Given the description of an element on the screen output the (x, y) to click on. 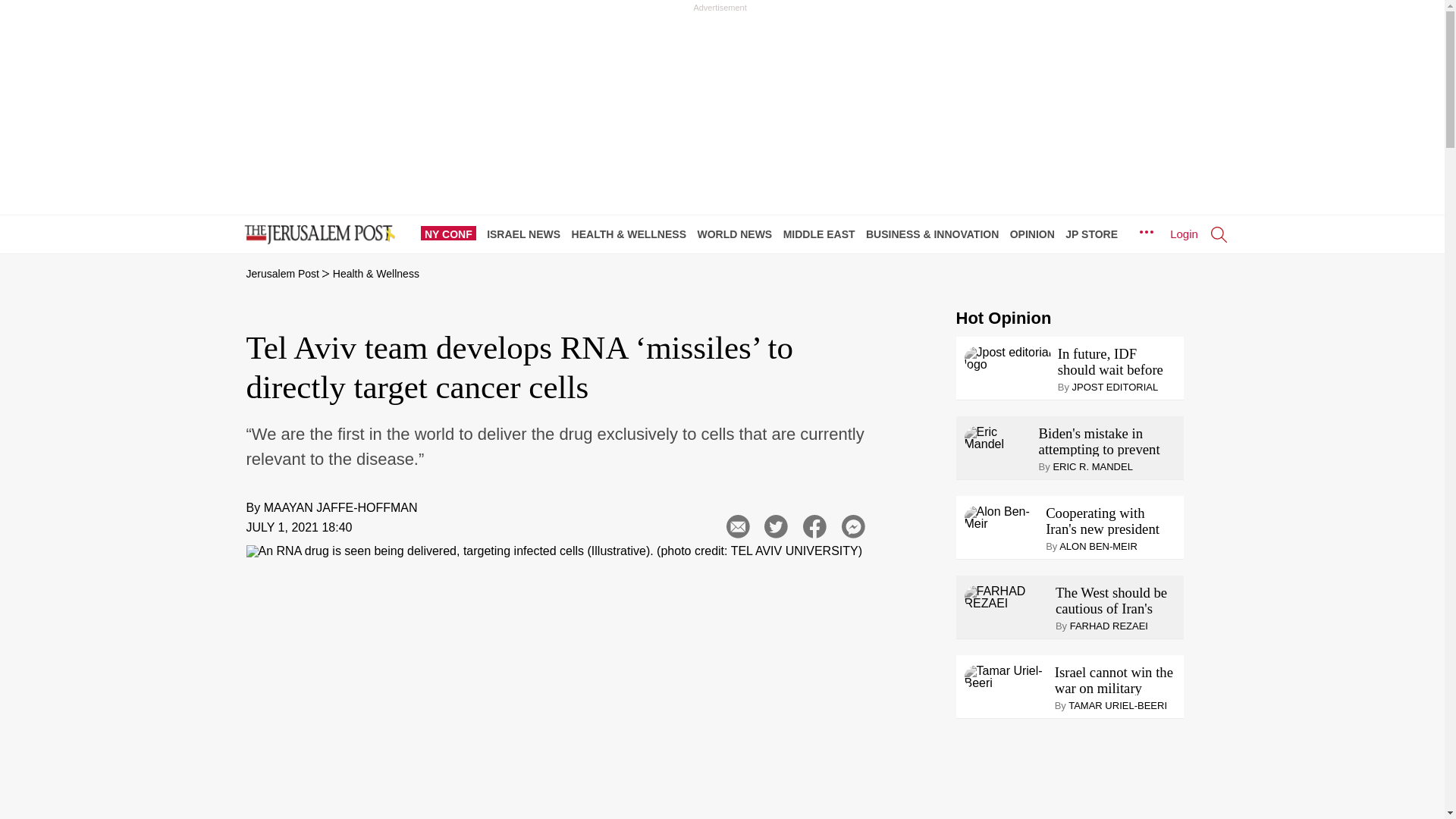
The Jerusalem Post Logo - Bring them home now (316, 235)
ISRAEL NEWS (526, 234)
Alon Ben-Meir (1002, 517)
 FARHAD REZAEI (1006, 597)
NY CONF (451, 234)
Hot Opinion (1003, 317)
MAAYAN JAFFE-HOFFMAN (340, 507)
 Tamar Uriel-Beeri (1005, 677)
Jerusalem Post (282, 273)
MIDDLE EAST (823, 234)
OPINION (1036, 234)
Jpost editorial logo  (1007, 358)
JP STORE (1095, 234)
